Given the description of an element on the screen output the (x, y) to click on. 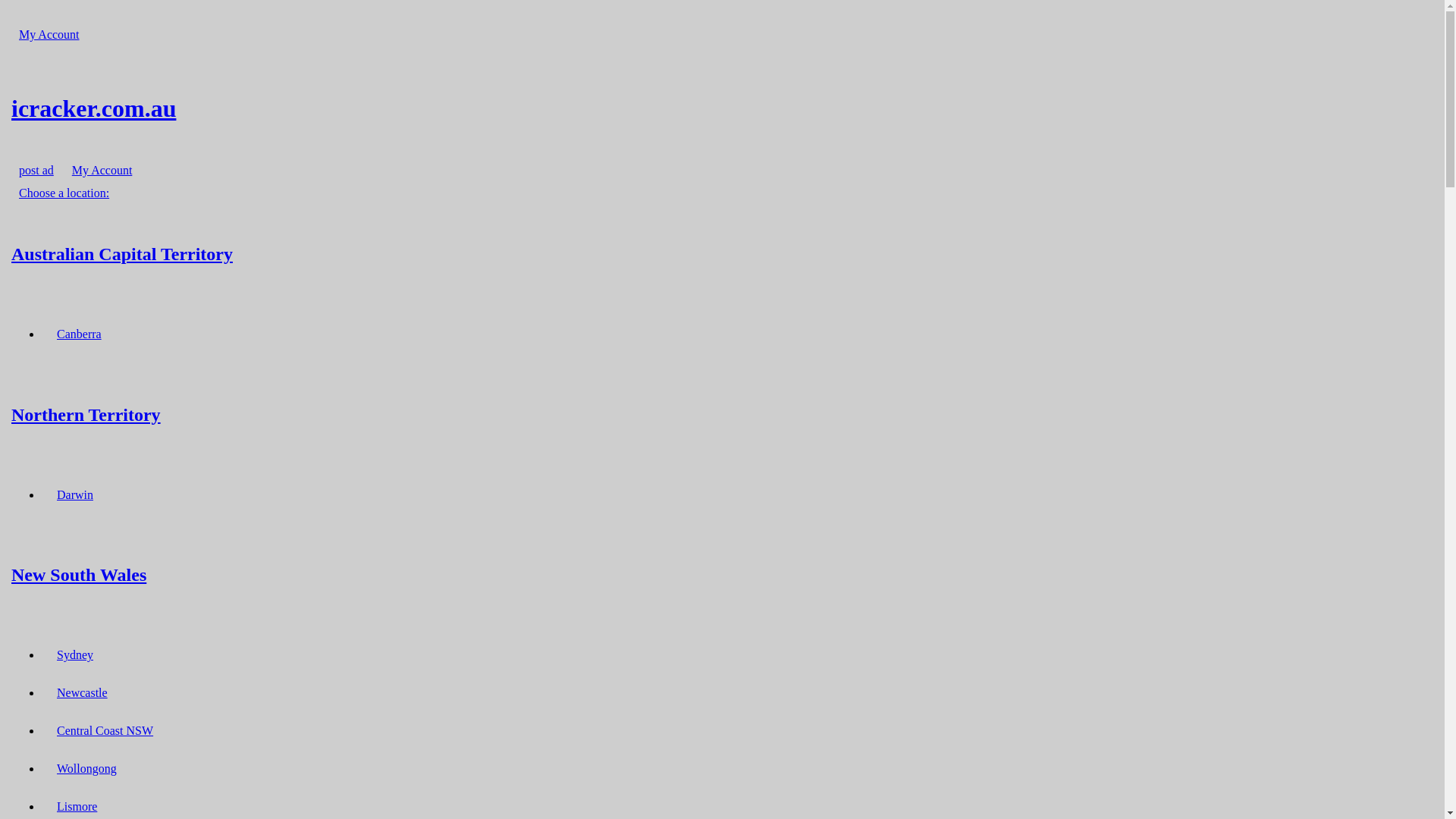
My Account Element type: text (49, 34)
Wollongong Element type: text (86, 768)
Australian Capital Territory Element type: text (722, 253)
Central Coast NSW Element type: text (104, 730)
Choose a location: Element type: text (63, 192)
My Account Element type: text (102, 170)
New South Wales Element type: text (722, 575)
icracker.com.au Element type: text (722, 108)
Northern Territory Element type: text (722, 414)
Darwin Element type: text (74, 494)
Newcastle Element type: text (82, 692)
Canberra Element type: text (79, 334)
Sydney Element type: text (74, 654)
post ad Element type: text (36, 170)
